Given the description of an element on the screen output the (x, y) to click on. 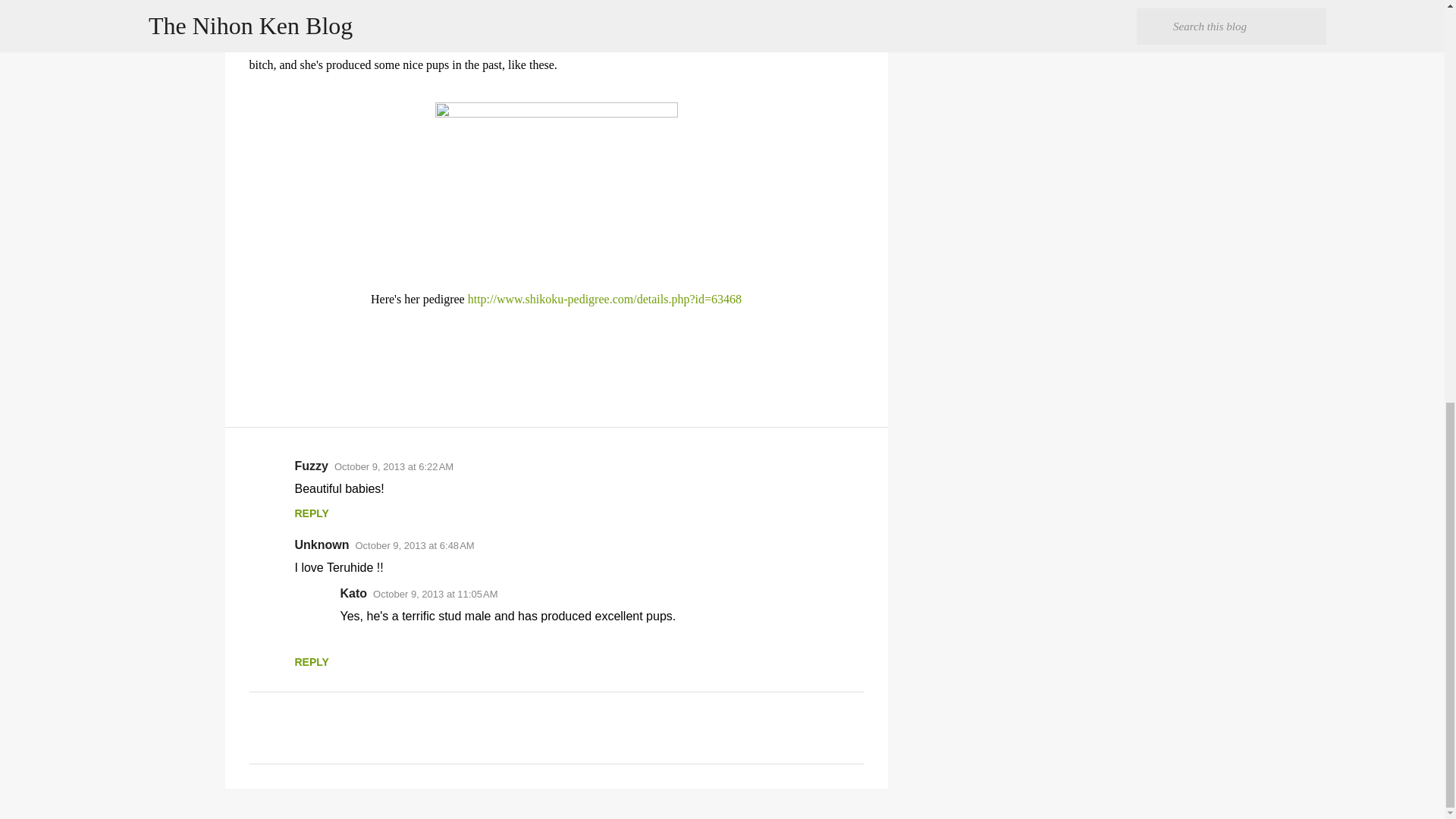
Kato (352, 593)
REPLY (311, 512)
Unknown (321, 544)
Fuzzy (310, 465)
REPLY (311, 662)
